Given the description of an element on the screen output the (x, y) to click on. 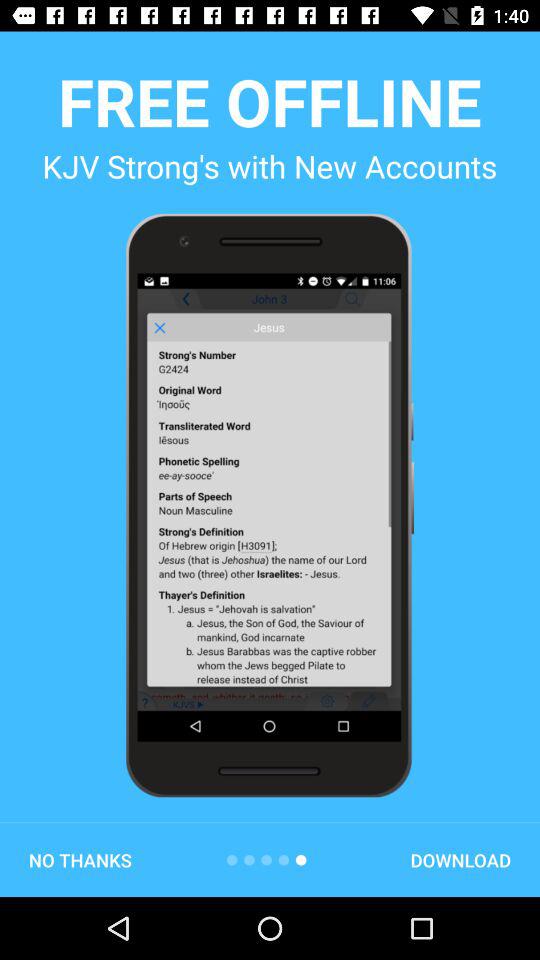
swipe to download item (460, 859)
